Given the description of an element on the screen output the (x, y) to click on. 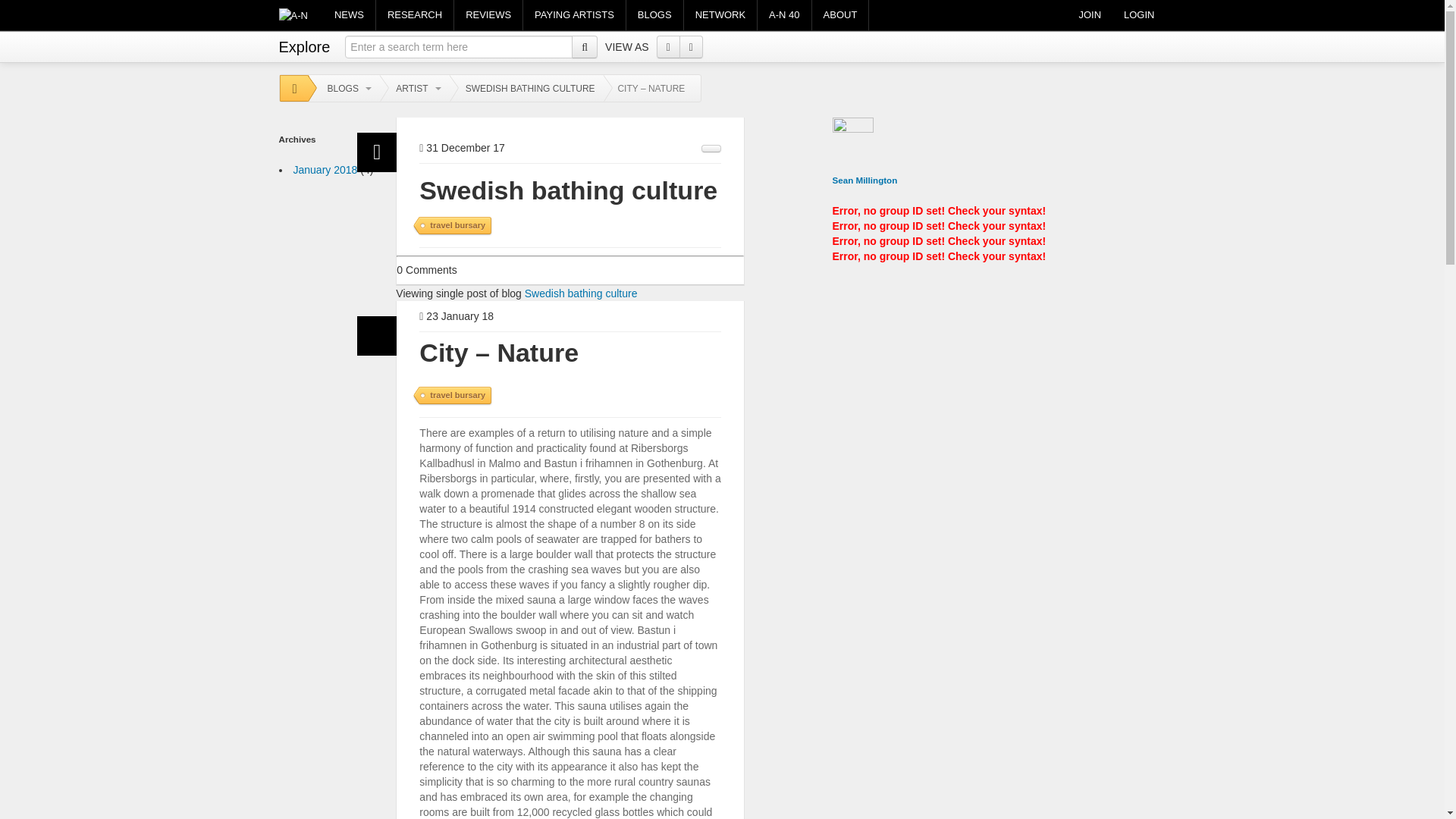
Campaigns stories (574, 15)
JOIN (1089, 15)
BLOGS (344, 88)
NETWORK (720, 15)
REVIEWS (488, 15)
Blogs (654, 15)
Explore (304, 42)
Subscribe to RSS (710, 148)
PAYING ARTISTS (574, 15)
Network (720, 15)
